Given the description of an element on the screen output the (x, y) to click on. 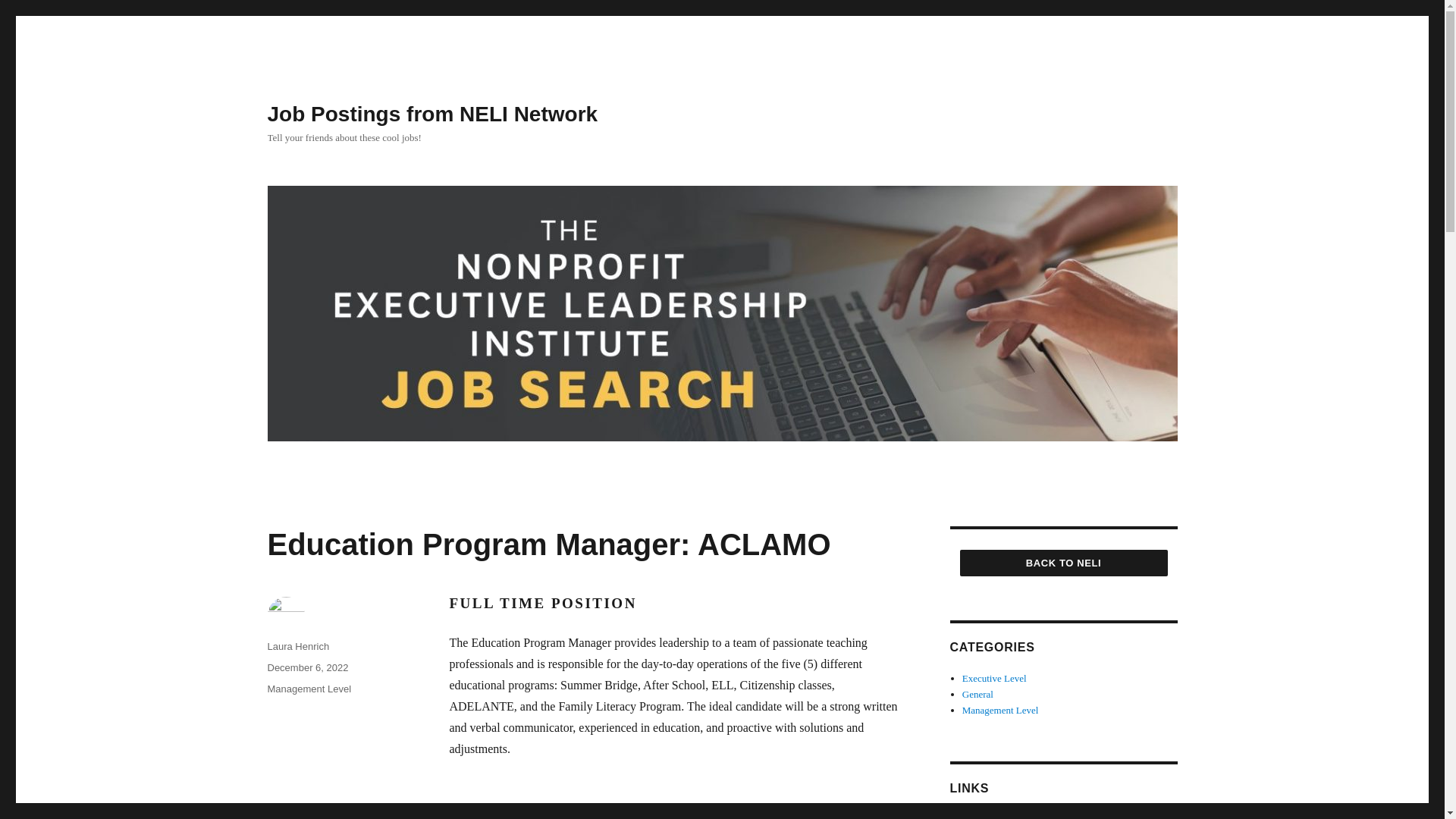
Management Level (308, 688)
Laura Henrich (297, 645)
December 6, 2022 (306, 667)
General (977, 694)
Idealist.org (984, 816)
Back To NELI (1063, 562)
Executive Level (994, 677)
Management Level (1000, 709)
Job Postings from NELI Network (431, 114)
